Given the description of an element on the screen output the (x, y) to click on. 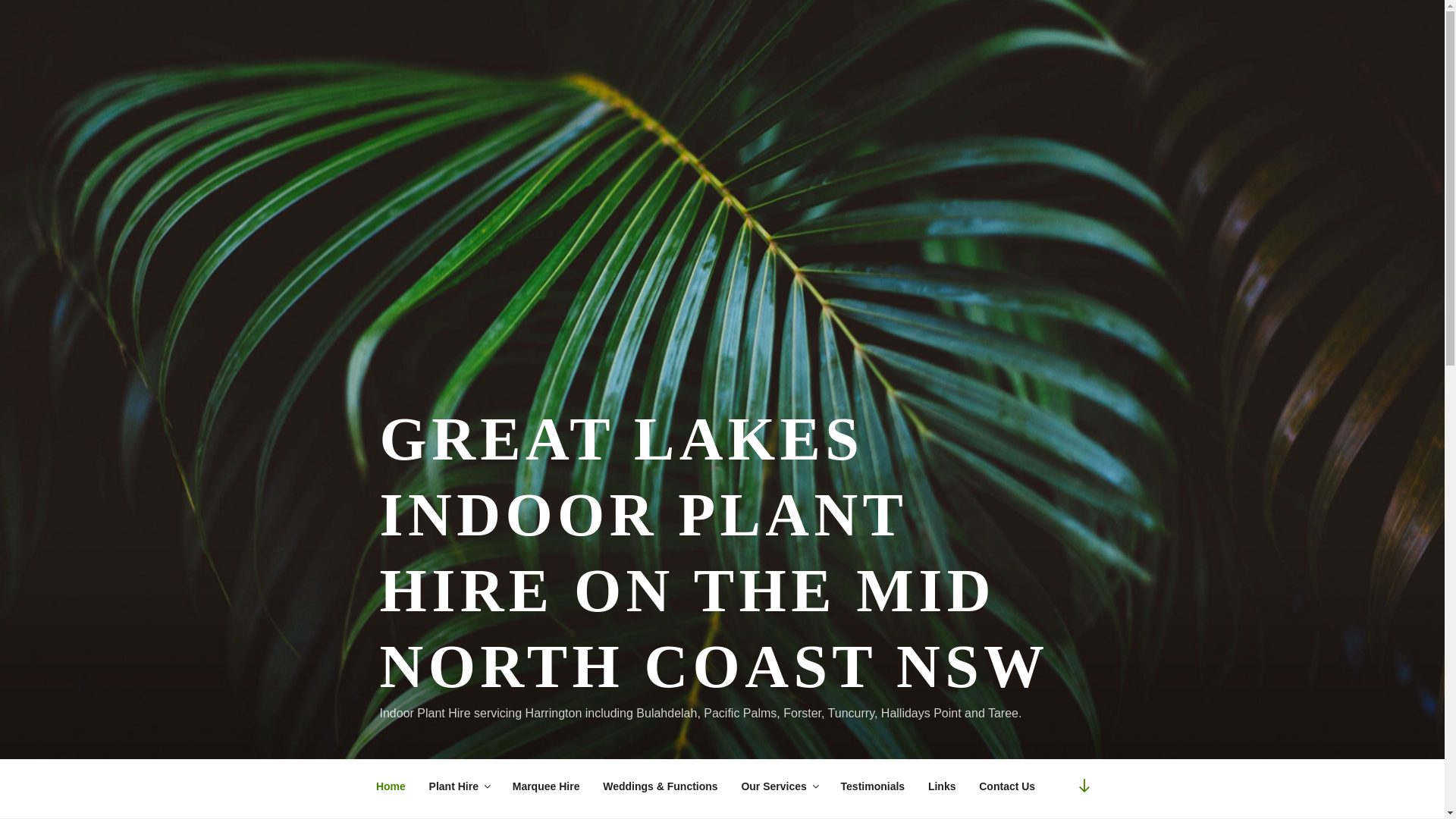
Contact Us Element type: text (1007, 785)
Weddings & Functions Element type: text (660, 785)
Our Services Element type: text (778, 785)
Plant Hire Element type: text (458, 785)
Skip to content Element type: text (0, 0)
Links Element type: text (941, 785)
Scroll down to content Element type: text (1083, 785)
Marquee Hire Element type: text (545, 785)
GREAT LAKES INDOOR PLANT HIRE ON THE MID NORTH COAST NSW Element type: text (713, 552)
Testimonials Element type: text (872, 785)
Home Element type: text (390, 785)
